Given the description of an element on the screen output the (x, y) to click on. 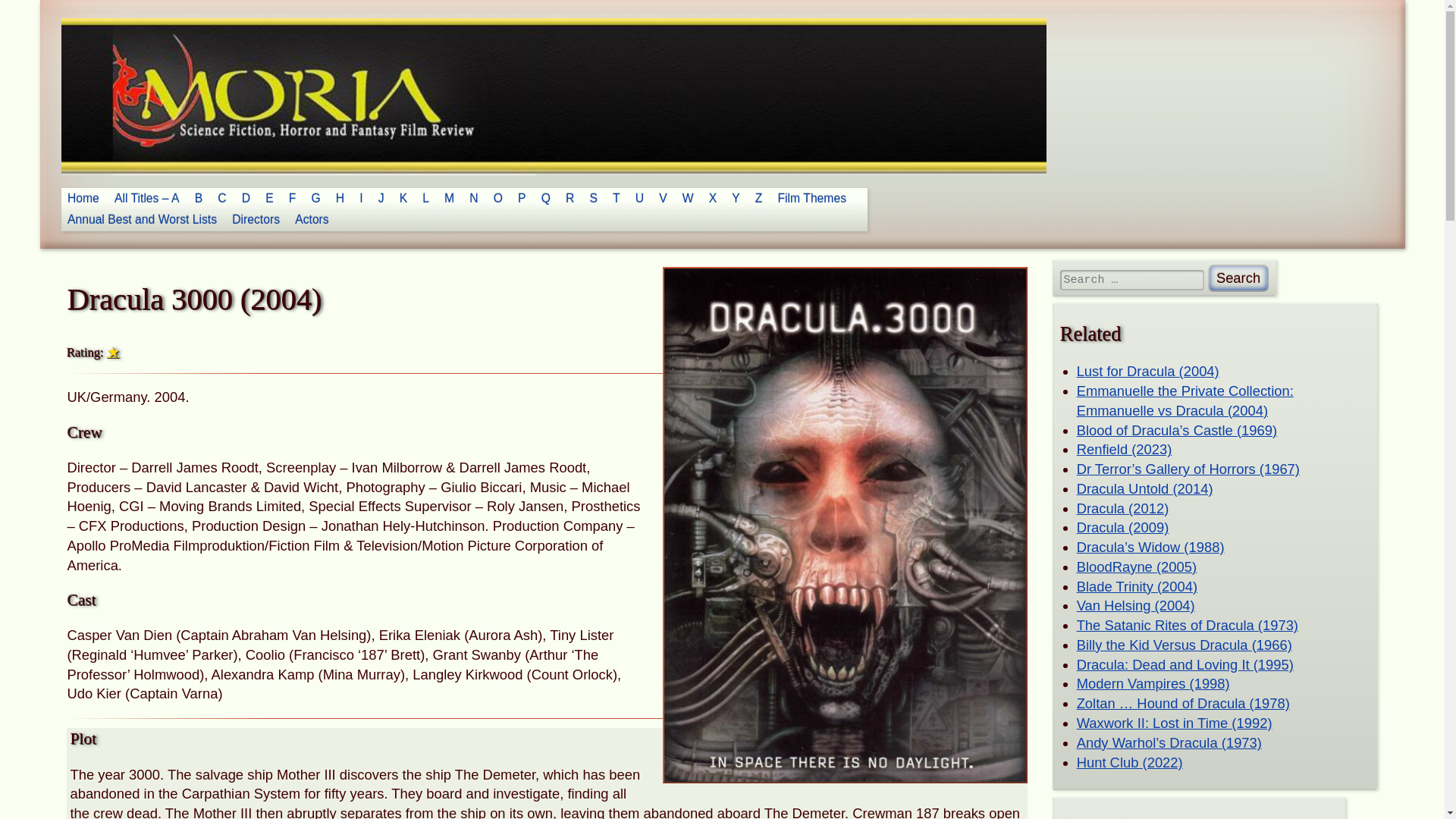
G (315, 198)
V (662, 198)
U (638, 198)
Q (545, 198)
B (198, 198)
H (340, 198)
Search (1238, 277)
Disappointingly Poor (112, 351)
Y (735, 198)
N (473, 198)
